Given the description of an element on the screen output the (x, y) to click on. 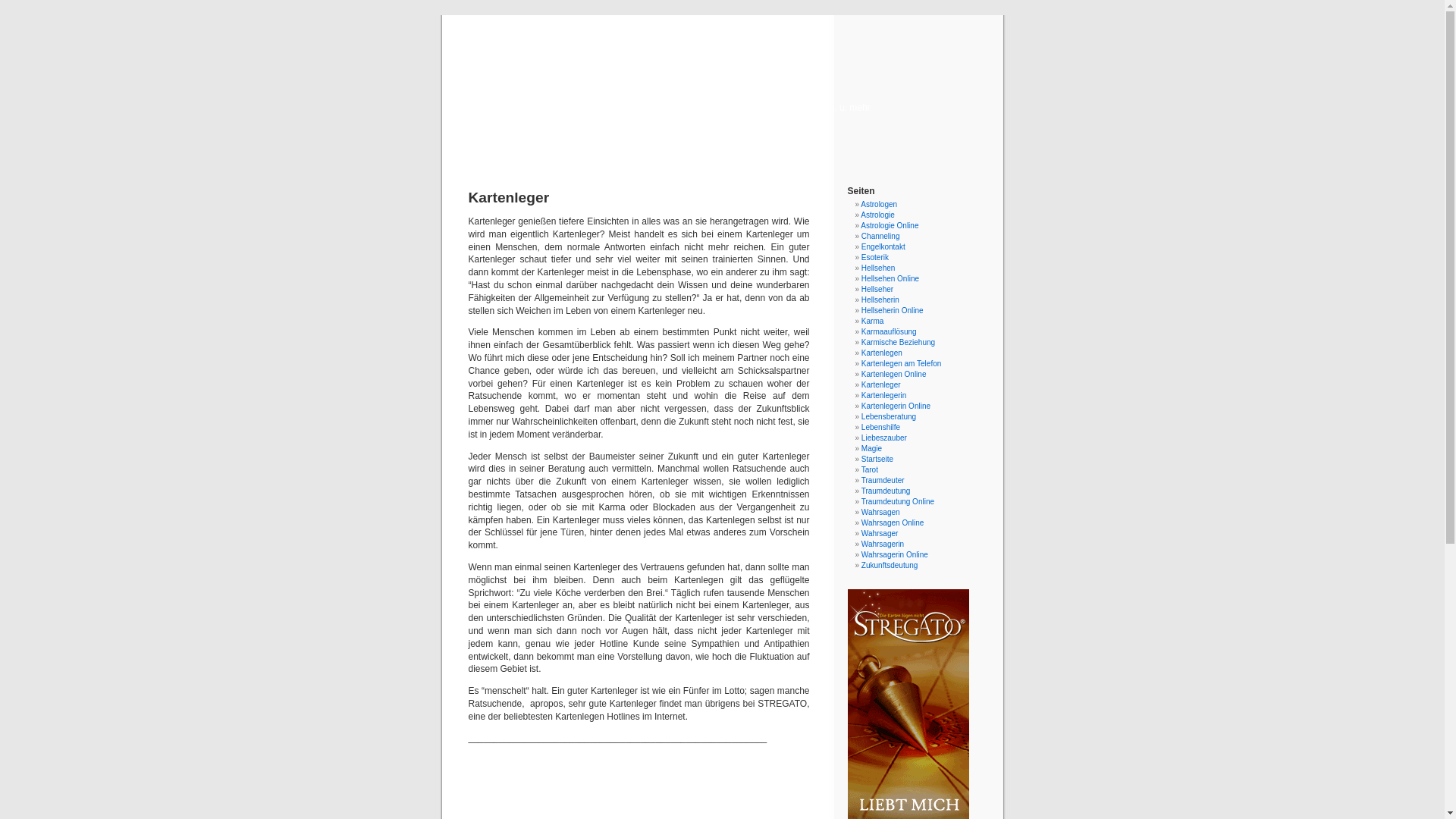
Wahrsagerin Online Element type: text (894, 554)
Kartenlegerin Online Element type: text (895, 405)
Engelkontakt Element type: text (883, 246)
Tarot Element type: text (869, 469)
Wahrsagerin Element type: text (882, 543)
Astrologen Element type: text (878, 204)
Lebensberatung Element type: text (888, 416)
Hellseher Element type: text (877, 289)
Esoterik Element type: text (874, 257)
Liebeszauber Element type: text (883, 437)
Startseite Element type: text (877, 459)
Kartenlegen Element type: text (881, 352)
Kartenlegen am Telefon Element type: text (901, 363)
Traumdeutung Element type: text (885, 490)
Kartenlegerin Element type: text (883, 395)
Wahrsager Element type: text (879, 533)
Zukunftsdeutung Element type: text (889, 565)
Karmische Beziehung Element type: text (898, 342)
Kartenlegen Online Element type: text (893, 374)
Kartenleger Element type: text (880, 384)
Wahrsagen Element type: text (880, 512)
Astrologie Element type: text (877, 214)
Karma Element type: text (872, 320)
4secret Element type: text (721, 84)
Hellseherin Element type: text (880, 299)
Traumdeuter Element type: text (882, 480)
Hellsehen Online Element type: text (890, 278)
Hellsehen Element type: text (877, 267)
Lebenshilfe Element type: text (880, 427)
Wahrsagen Online Element type: text (892, 522)
Magie Element type: text (871, 448)
Hellseherin Online Element type: text (892, 310)
Astrologie Online Element type: text (889, 225)
Channeling Element type: text (880, 236)
Traumdeutung Online Element type: text (897, 501)
